Given the description of an element on the screen output the (x, y) to click on. 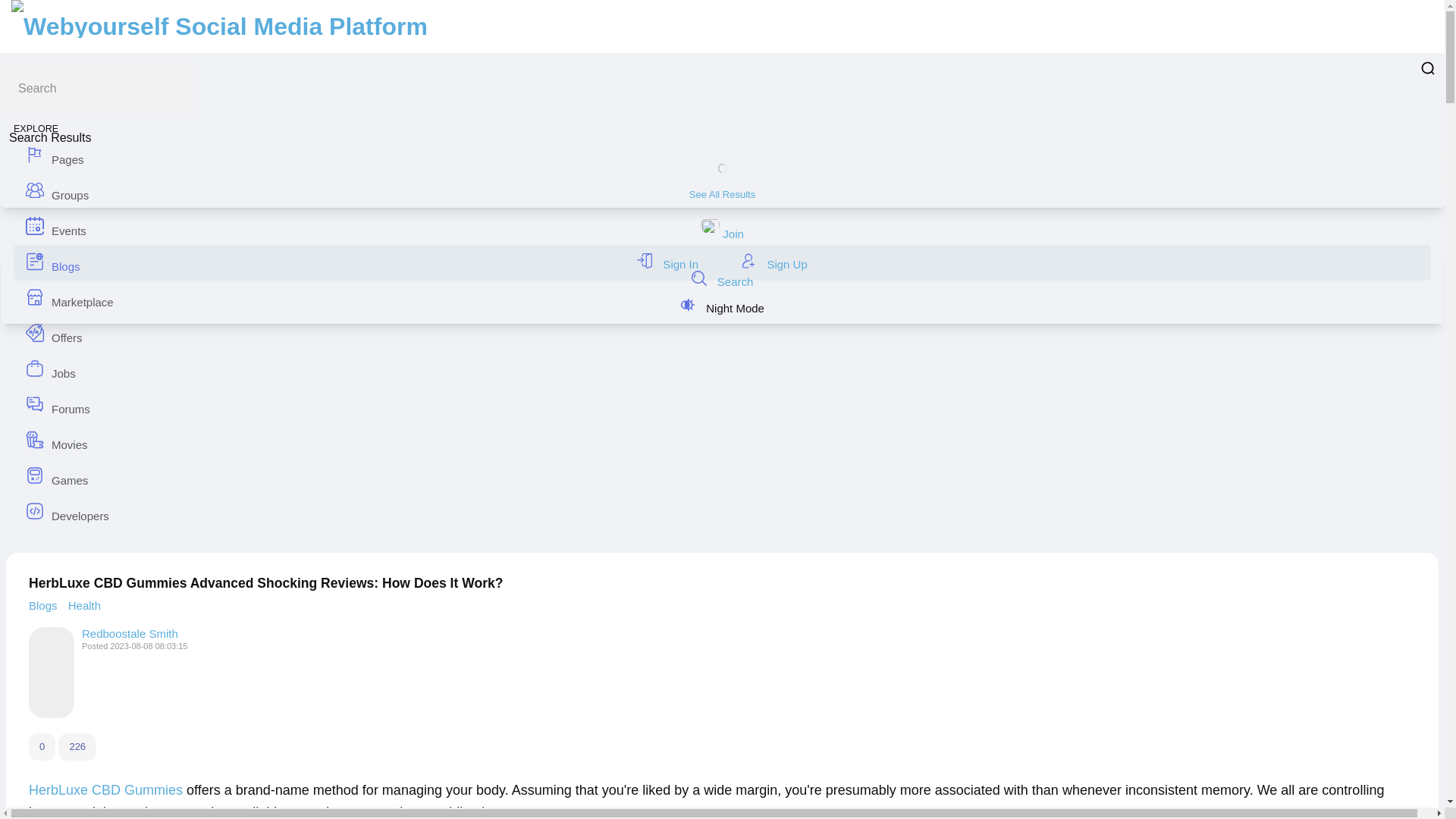
Join (721, 234)
Groups (722, 191)
Offers (722, 334)
See All Results (722, 194)
Blogs (722, 262)
HerbLuxe CBD Gummies (106, 789)
Jobs (722, 369)
Marketplace (722, 298)
Redboostale Smith (129, 633)
0 (42, 746)
Health (84, 604)
Blogs (45, 604)
Movies (722, 440)
Sign In (668, 264)
Developers (722, 511)
